Given the description of an element on the screen output the (x, y) to click on. 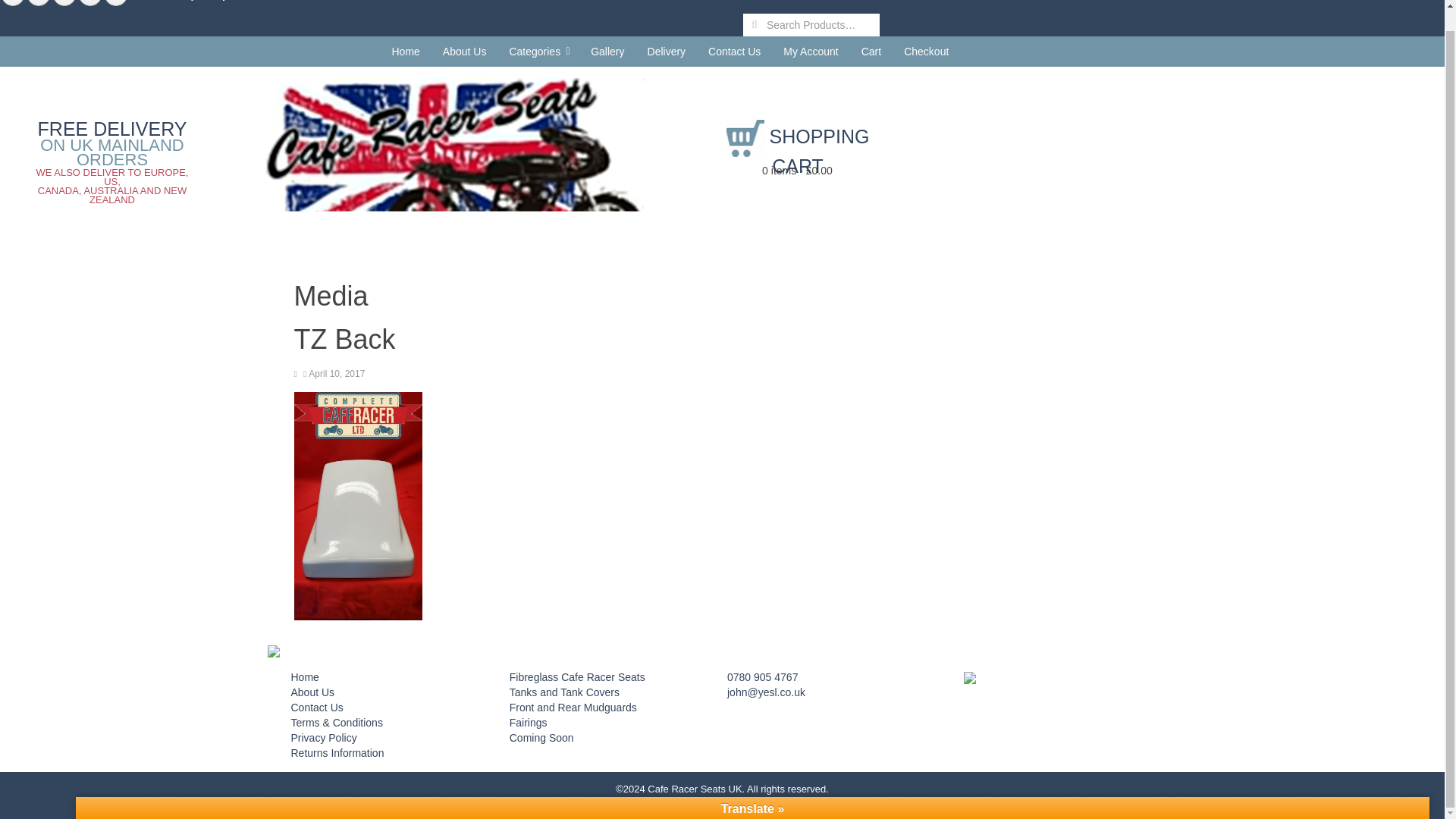
Cart (871, 51)
My Account (809, 51)
View your shopping cart (797, 151)
Contact Us (734, 51)
Checkout (925, 51)
View your shopping cart (797, 174)
SHOPPING CART (797, 151)
About Us (463, 51)
Categories (538, 51)
